Given the description of an element on the screen output the (x, y) to click on. 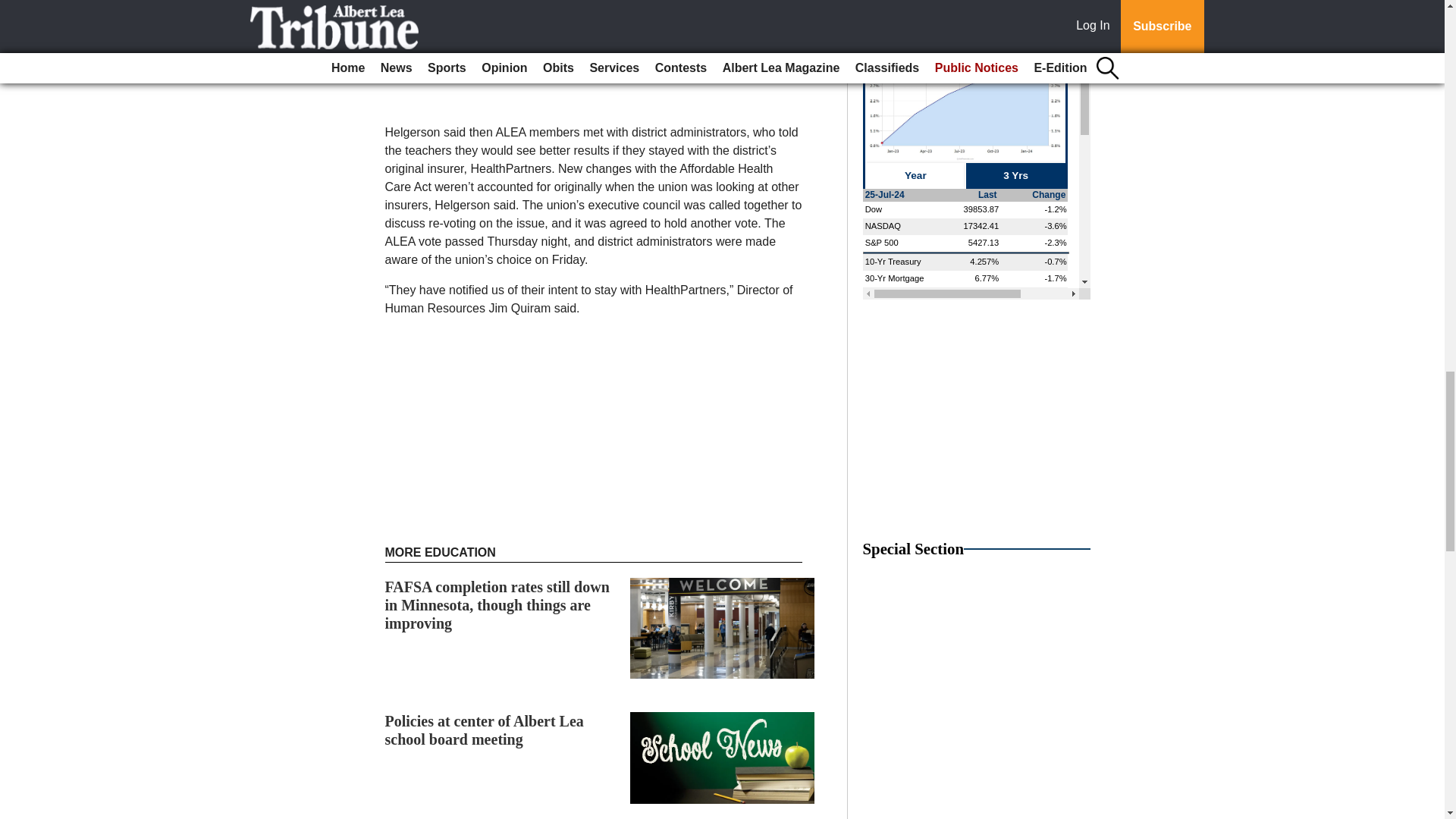
Policies at center of Albert Lea school board meeting (484, 729)
